Given the description of an element on the screen output the (x, y) to click on. 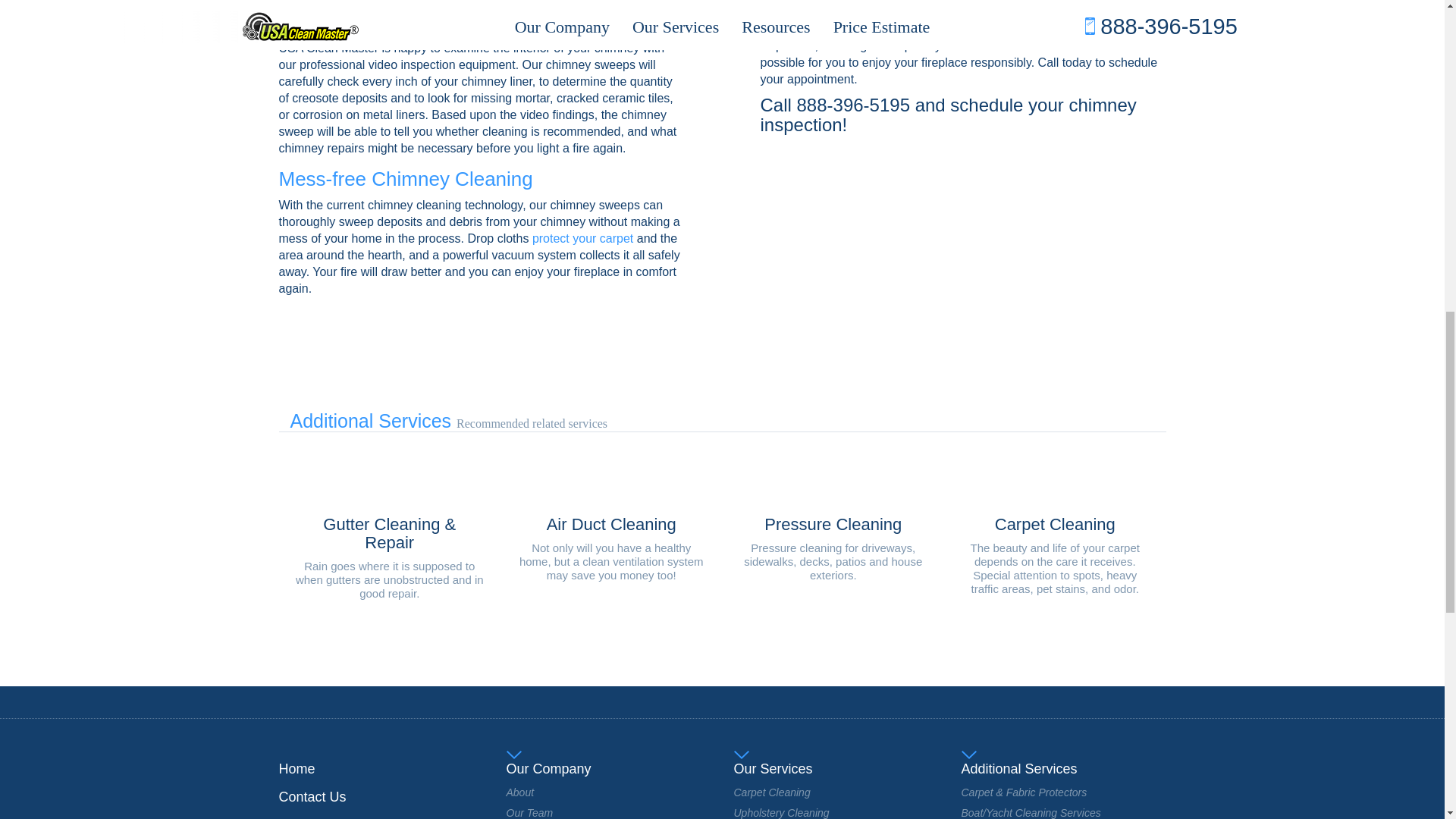
protect your carpet (582, 237)
Home (297, 768)
Contact Us (312, 796)
